Given the description of an element on the screen output the (x, y) to click on. 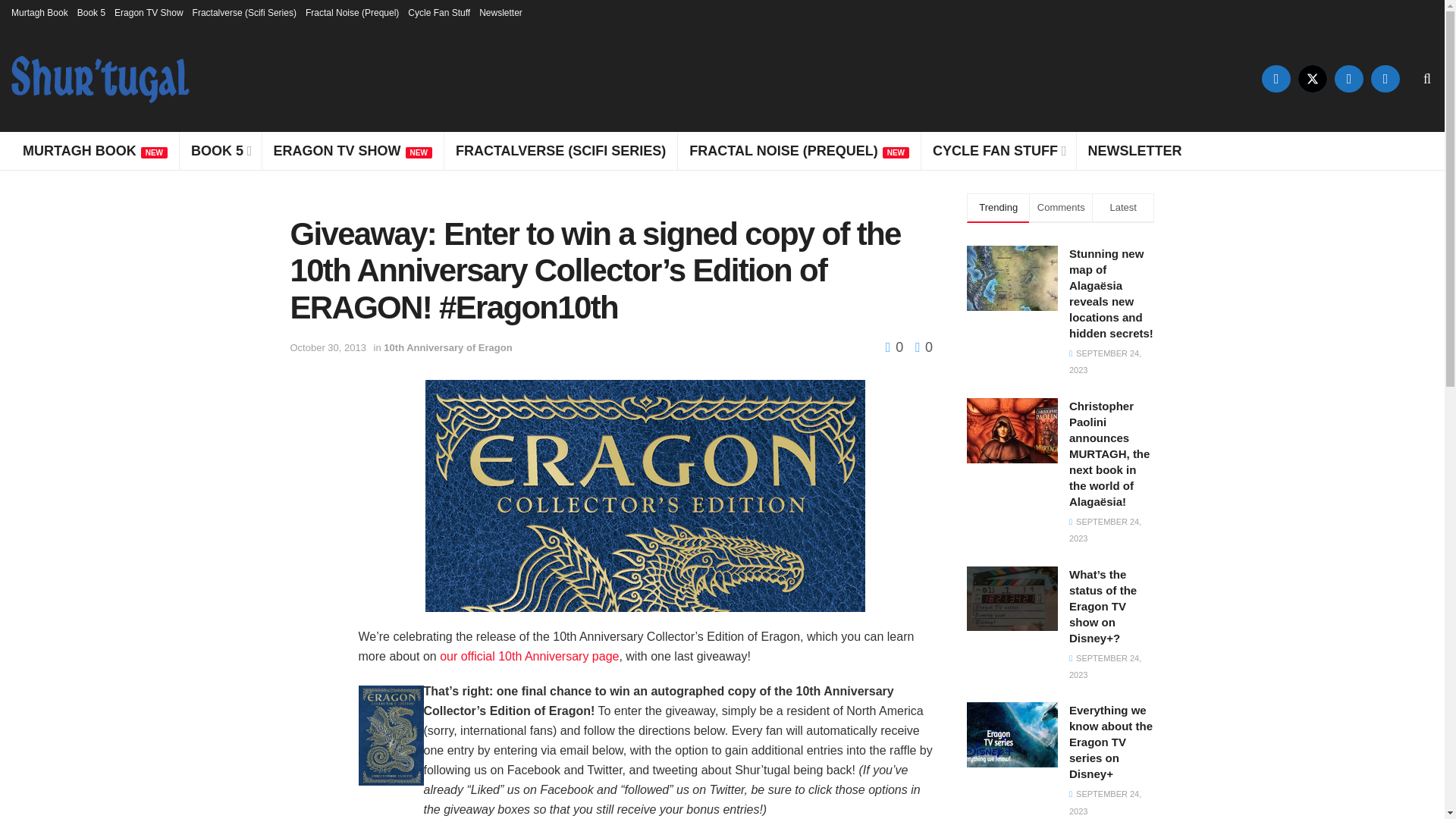
CYCLE FAN STUFF (997, 150)
Eragon TV Show (149, 12)
BOOK 5 (220, 150)
Murtagh Book (39, 12)
MURTAGH BOOKNEW (94, 150)
Book 5 (90, 12)
ERAGON TV SHOWNEW (352, 150)
Newsletter (500, 12)
Cycle Fan Stuff (438, 12)
